Given the description of an element on the screen output the (x, y) to click on. 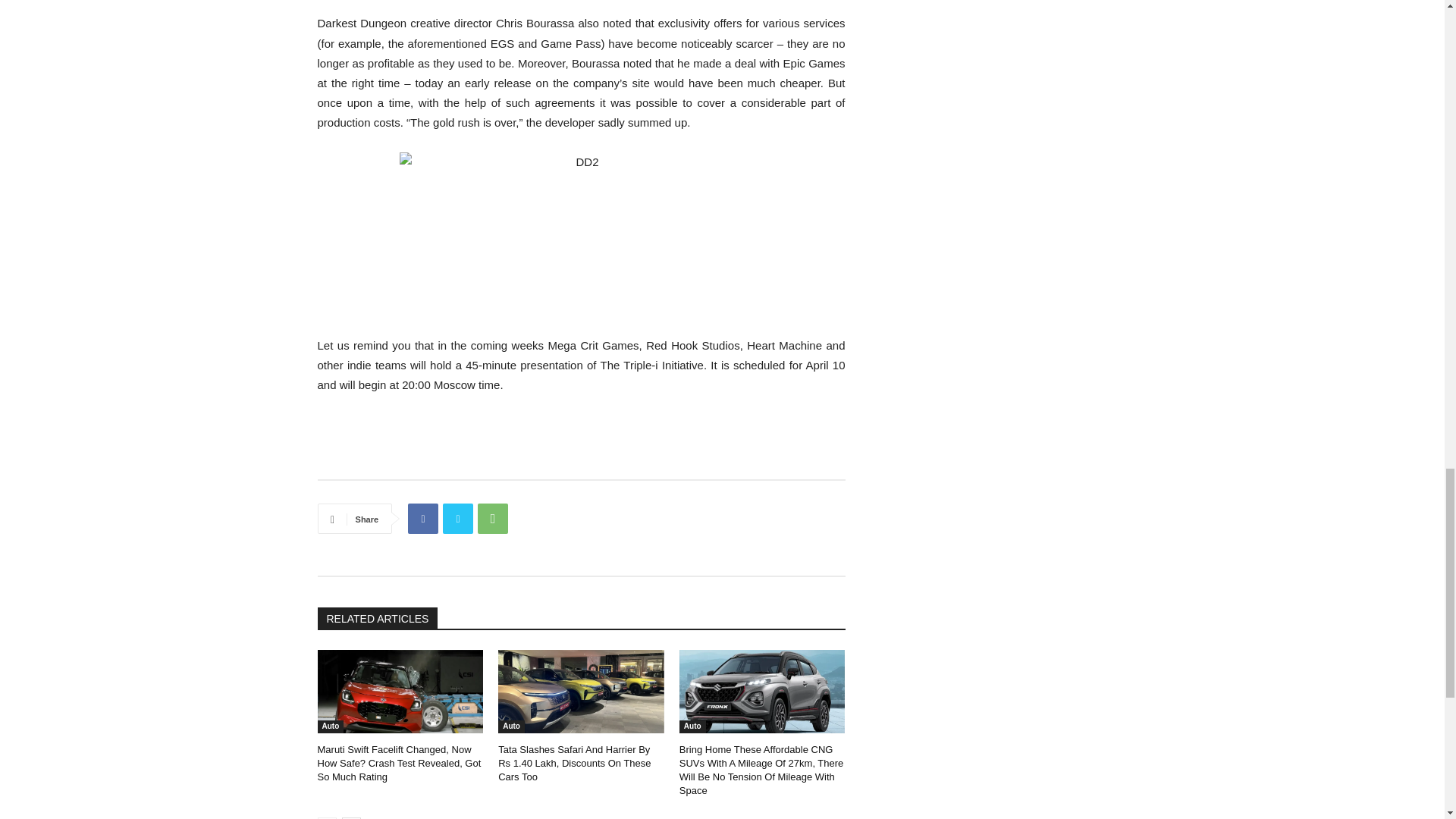
Auto (330, 726)
